Given the description of an element on the screen output the (x, y) to click on. 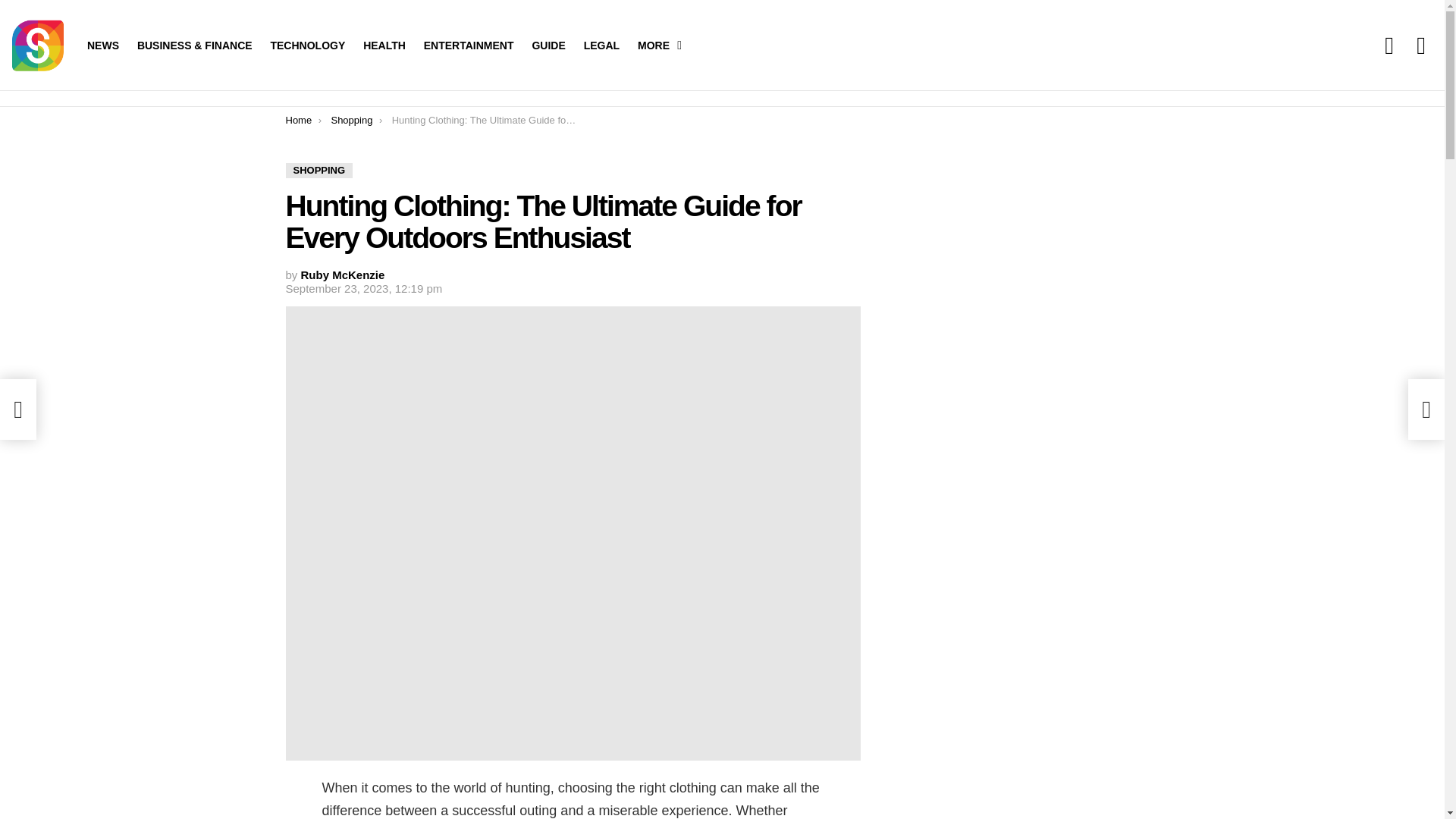
GUIDE (548, 45)
MORE (655, 45)
Shopping (351, 120)
LEGAL (601, 45)
HEALTH (384, 45)
SHOPPING (318, 170)
NEWS (103, 45)
TECHNOLOGY (307, 45)
ENTERTAINMENT (468, 45)
Ruby McKenzie (343, 274)
Home (298, 120)
Posts by Ruby McKenzie (343, 274)
